Given the description of an element on the screen output the (x, y) to click on. 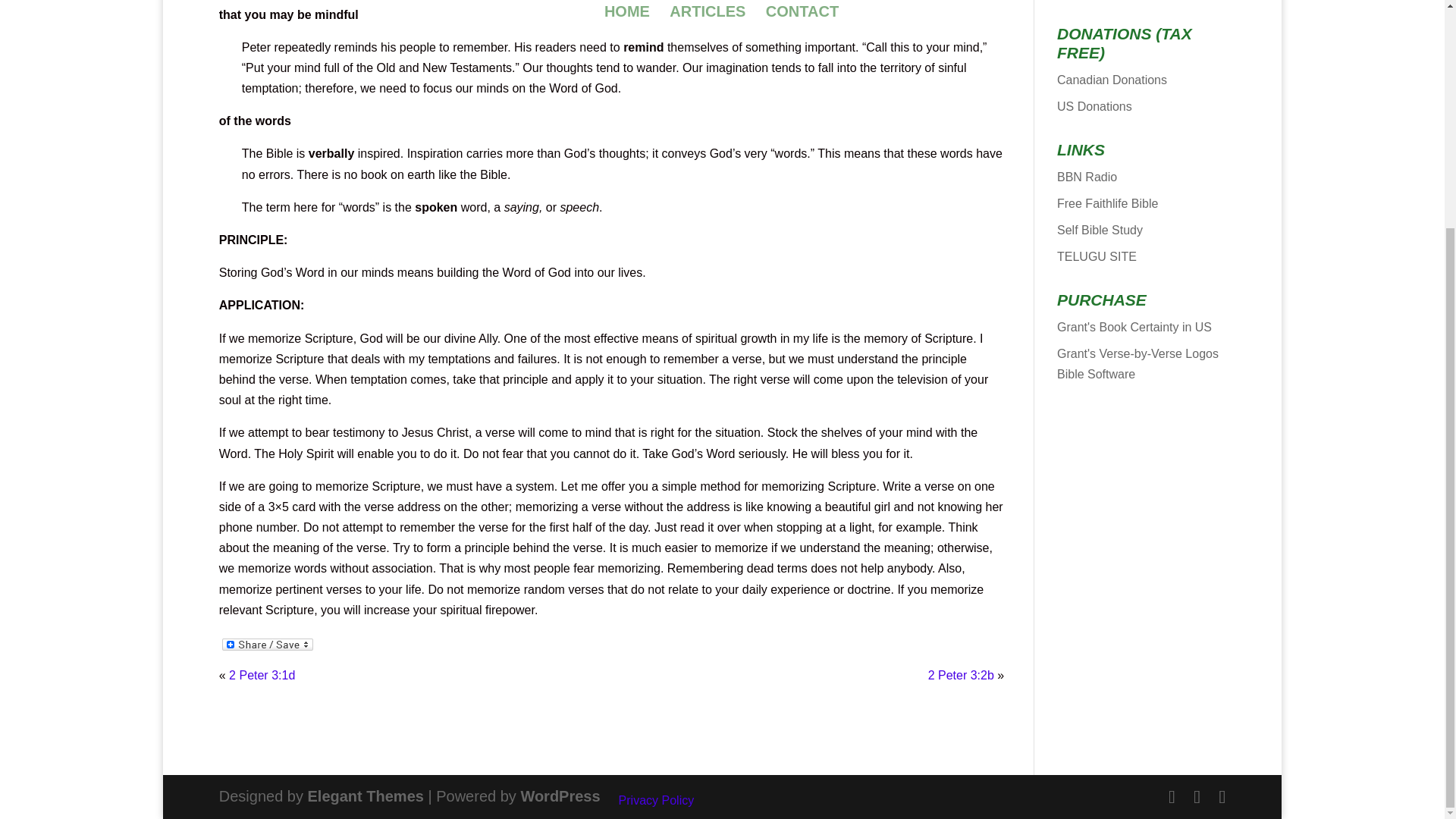
Telugu verse-by-verse commentary (1097, 256)
WordPress (559, 795)
TELUGU SITE (1097, 256)
2 Peter 3:1d (261, 675)
Privacy Policy (656, 799)
US Donations (1094, 106)
Elegant Themes (365, 795)
Canadian Donations (1112, 79)
Grant's Book Certainty in US (1134, 327)
Free Study Bible with many resources (1107, 203)
